Given the description of an element on the screen output the (x, y) to click on. 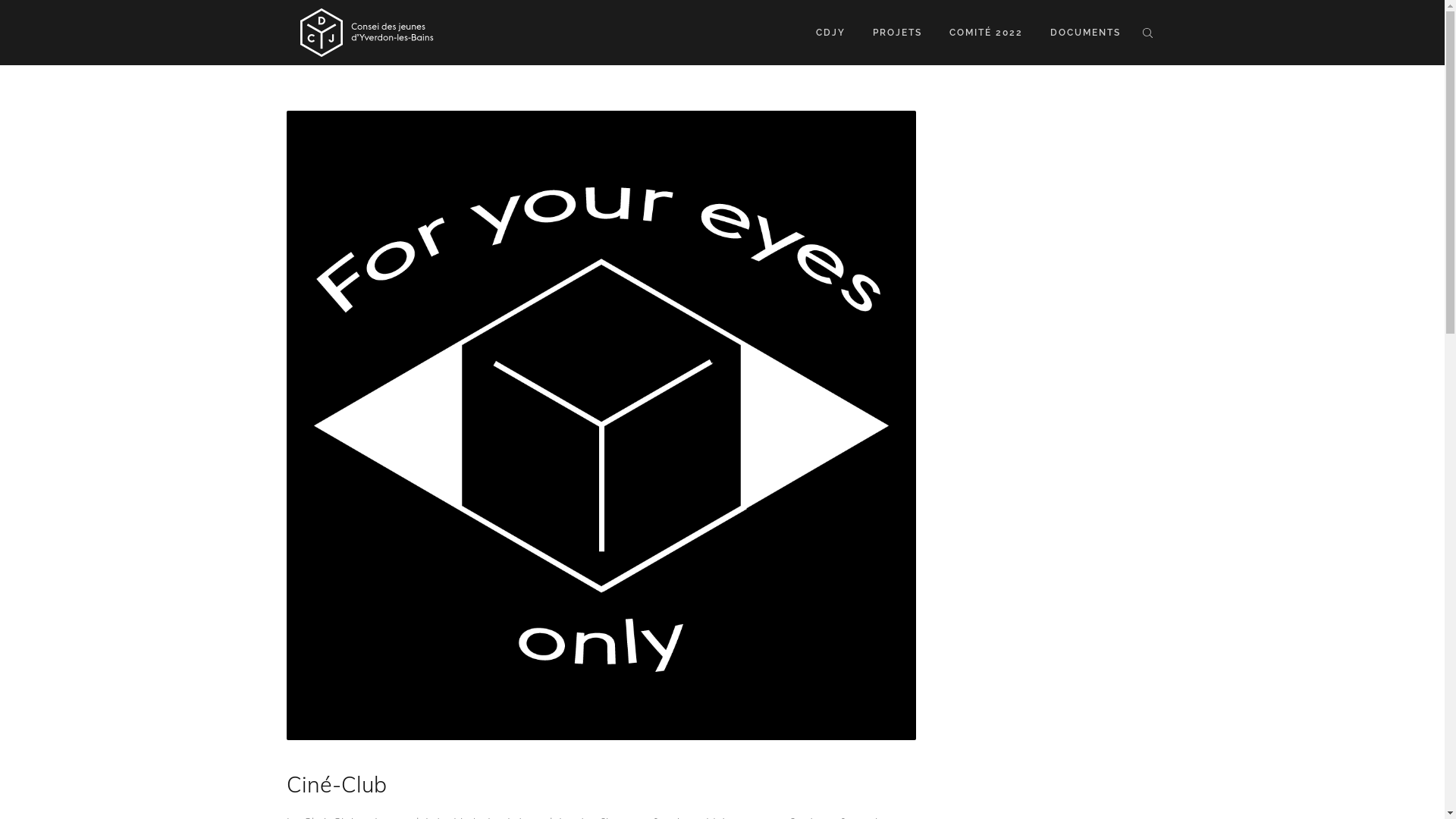
DOCUMENTS Element type: text (1084, 32)
CDJY Element type: hover (365, 31)
Rechercher sur le site... Element type: text (1146, 32)
PROJETS Element type: text (896, 32)
CDJY Element type: text (830, 32)
